Given the description of an element on the screen output the (x, y) to click on. 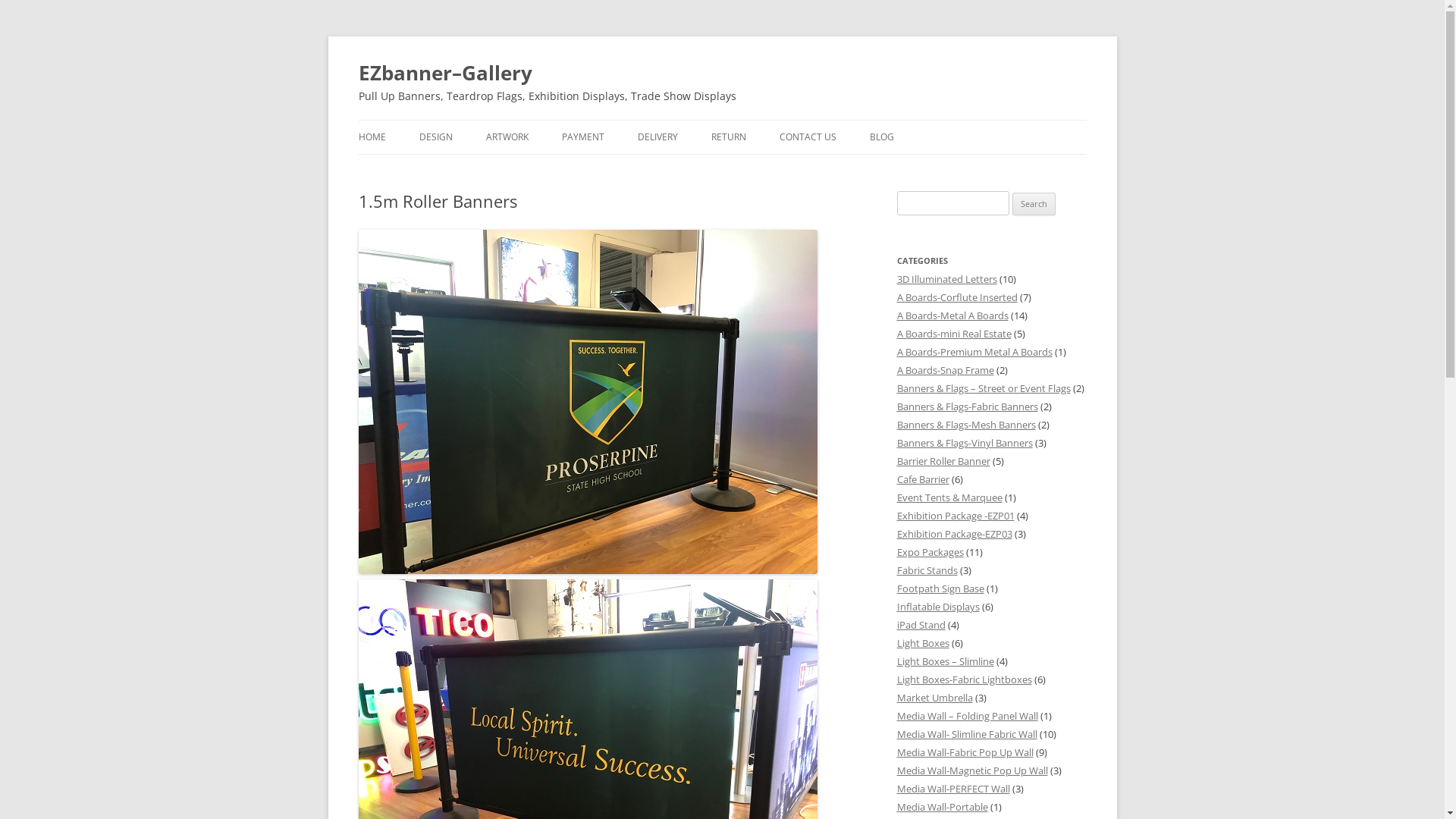
A Boards-mini Real Estate Element type: text (953, 333)
Light Boxes-Fabric Lightboxes Element type: text (963, 679)
Media Wall-PERFECT Wall Element type: text (952, 788)
Light Boxes Element type: text (922, 642)
Exhibition Package-EZP03 Element type: text (953, 533)
A Boards-Snap Frame Element type: text (944, 369)
Exhibition Package -EZP01 Element type: text (954, 515)
Event Tents & Marquee Element type: text (948, 497)
Fabric Stands Element type: text (926, 570)
Media Wall-Magnetic Pop Up Wall Element type: text (971, 770)
iPad Stand Element type: text (920, 624)
HOME Element type: text (371, 136)
Search Element type: text (1033, 203)
BLOG Element type: text (881, 136)
A Boards-Corflute Inserted Element type: text (956, 297)
A Boards-Metal A Boards Element type: text (951, 315)
DELIVERY Element type: text (657, 136)
Banners & Flags-Mesh Banners Element type: text (965, 424)
CONTACT US Element type: text (807, 136)
ARTWORK Element type: text (506, 136)
A Boards-Premium Metal A Boards Element type: text (973, 351)
Media Wall-Fabric Pop Up Wall Element type: text (964, 752)
Market Umbrella Element type: text (934, 697)
Media Wall-Portable Element type: text (941, 806)
Footpath Sign Base Element type: text (939, 588)
Banners & Flags-Fabric Banners Element type: text (966, 406)
Expo Packages Element type: text (929, 551)
Barrier Roller Banner Element type: text (942, 460)
3D Illuminated Letters Element type: text (946, 278)
Inflatable Displays Element type: text (937, 606)
DESIGN Element type: text (434, 136)
Cafe Barrier Element type: text (922, 479)
PAYMENT Element type: text (582, 136)
Media Wall- Slimline Fabric Wall Element type: text (966, 733)
Skip to content Element type: text (759, 124)
RETURN Element type: text (728, 136)
Banners & Flags-Vinyl Banners Element type: text (964, 442)
